Given the description of an element on the screen output the (x, y) to click on. 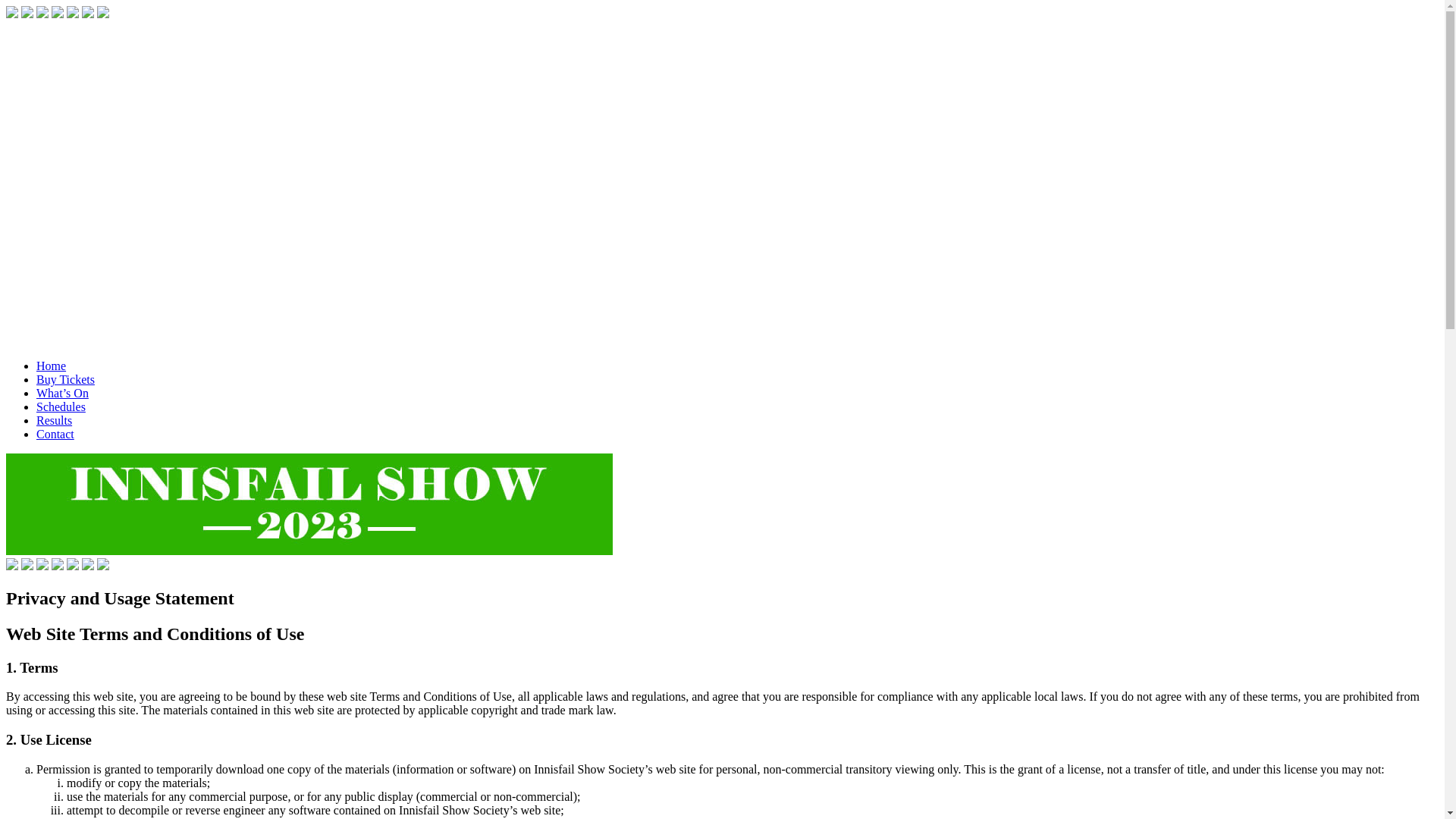
Buy Tickets Element type: text (65, 379)
Results Element type: text (54, 420)
Home Element type: text (50, 365)
Contact Element type: text (55, 433)
Schedules Element type: text (60, 406)
